Given the description of an element on the screen output the (x, y) to click on. 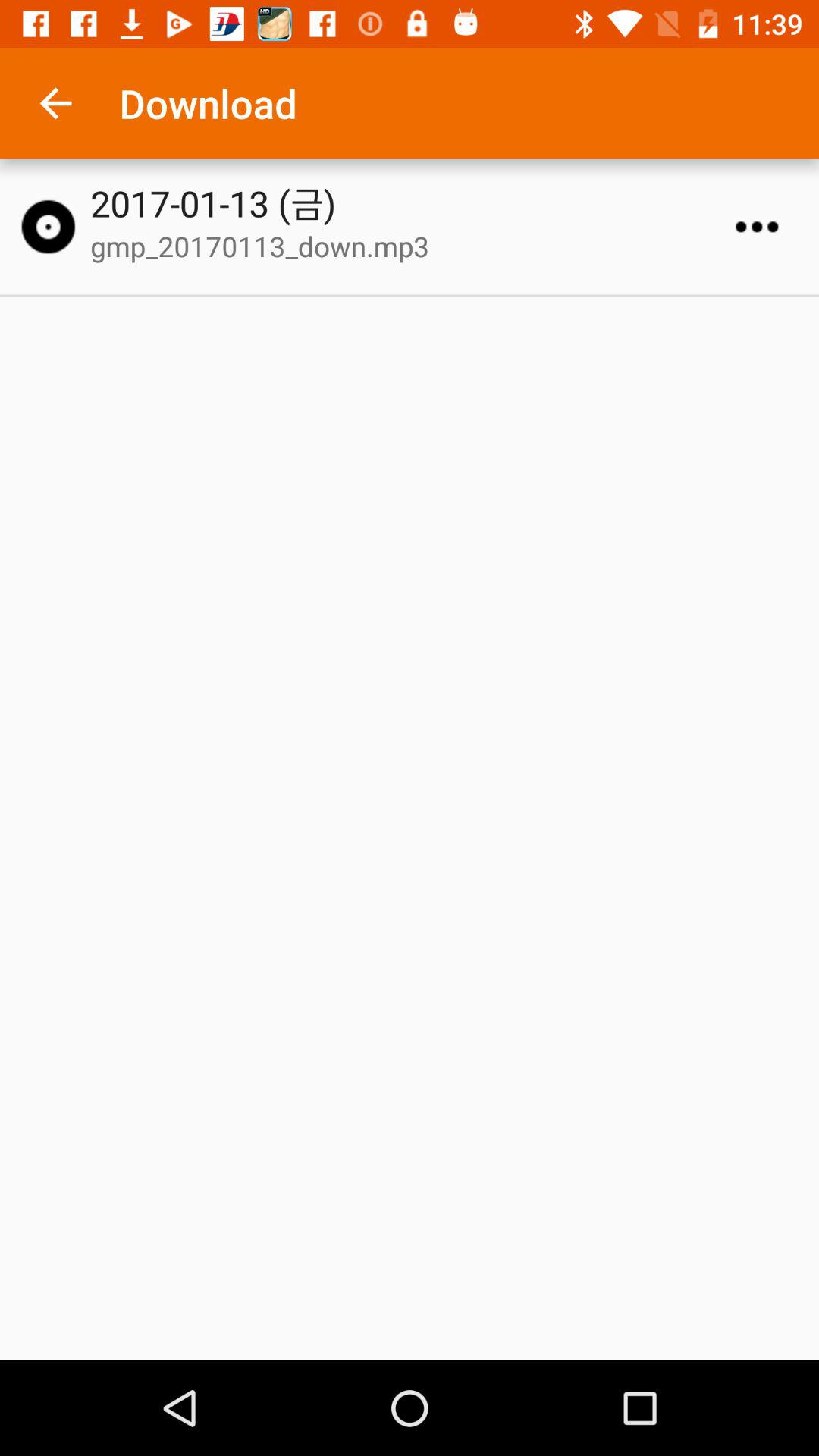
jump to gmp_20170113_down.mp3 item (416, 246)
